Given the description of an element on the screen output the (x, y) to click on. 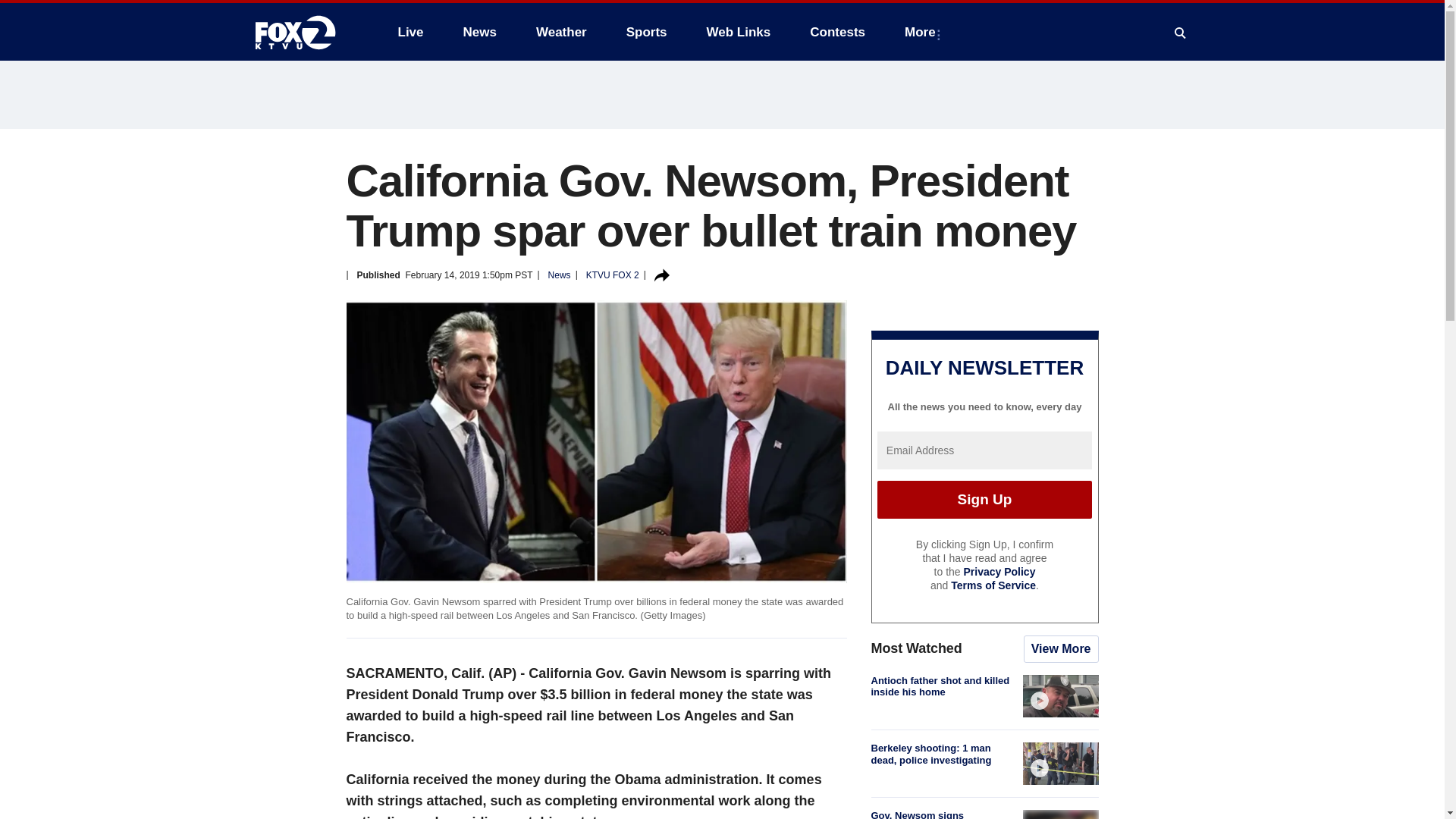
More (922, 32)
Web Links (738, 32)
Weather (561, 32)
Contests (837, 32)
News (479, 32)
Sports (646, 32)
Live (410, 32)
Sign Up (984, 499)
